Given the description of an element on the screen output the (x, y) to click on. 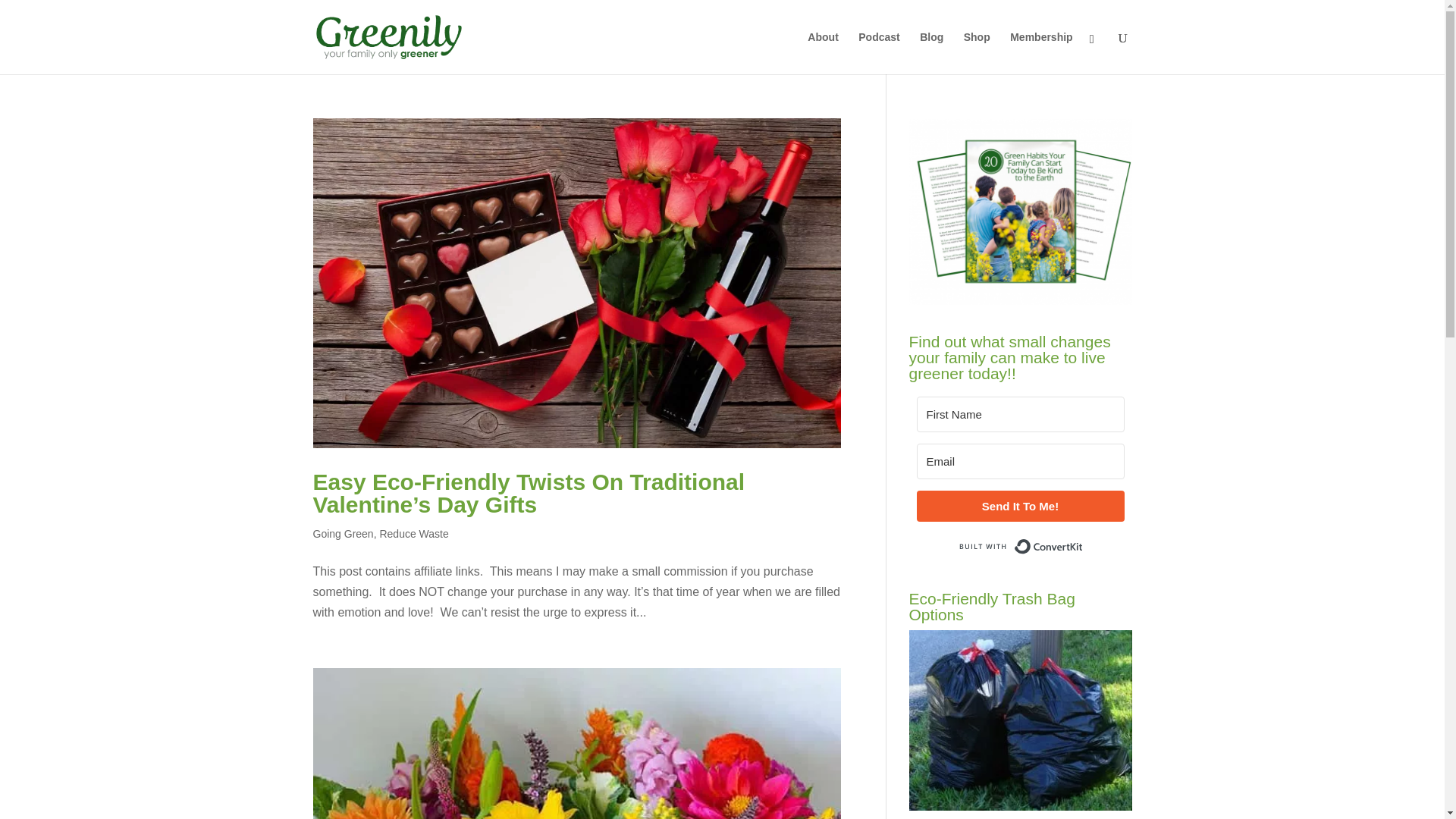
Built with ConvertKit (1019, 546)
Going Green (342, 533)
Send It To Me! (1019, 505)
Reduce Waste (413, 533)
Membership (1040, 52)
Eco-Friendly Trash Bag Options (1019, 719)
Podcast (879, 52)
